Given the description of an element on the screen output the (x, y) to click on. 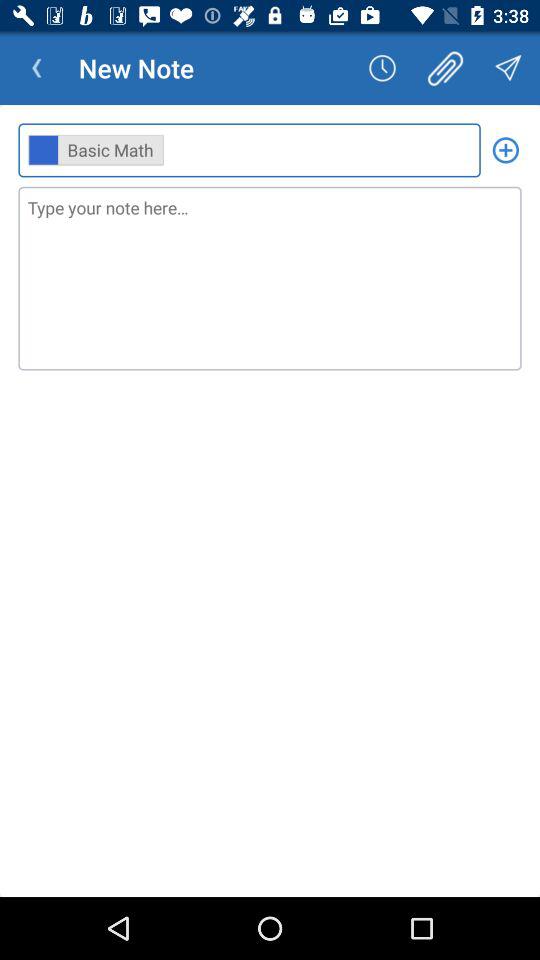
turn on the ,,  item (249, 150)
